Given the description of an element on the screen output the (x, y) to click on. 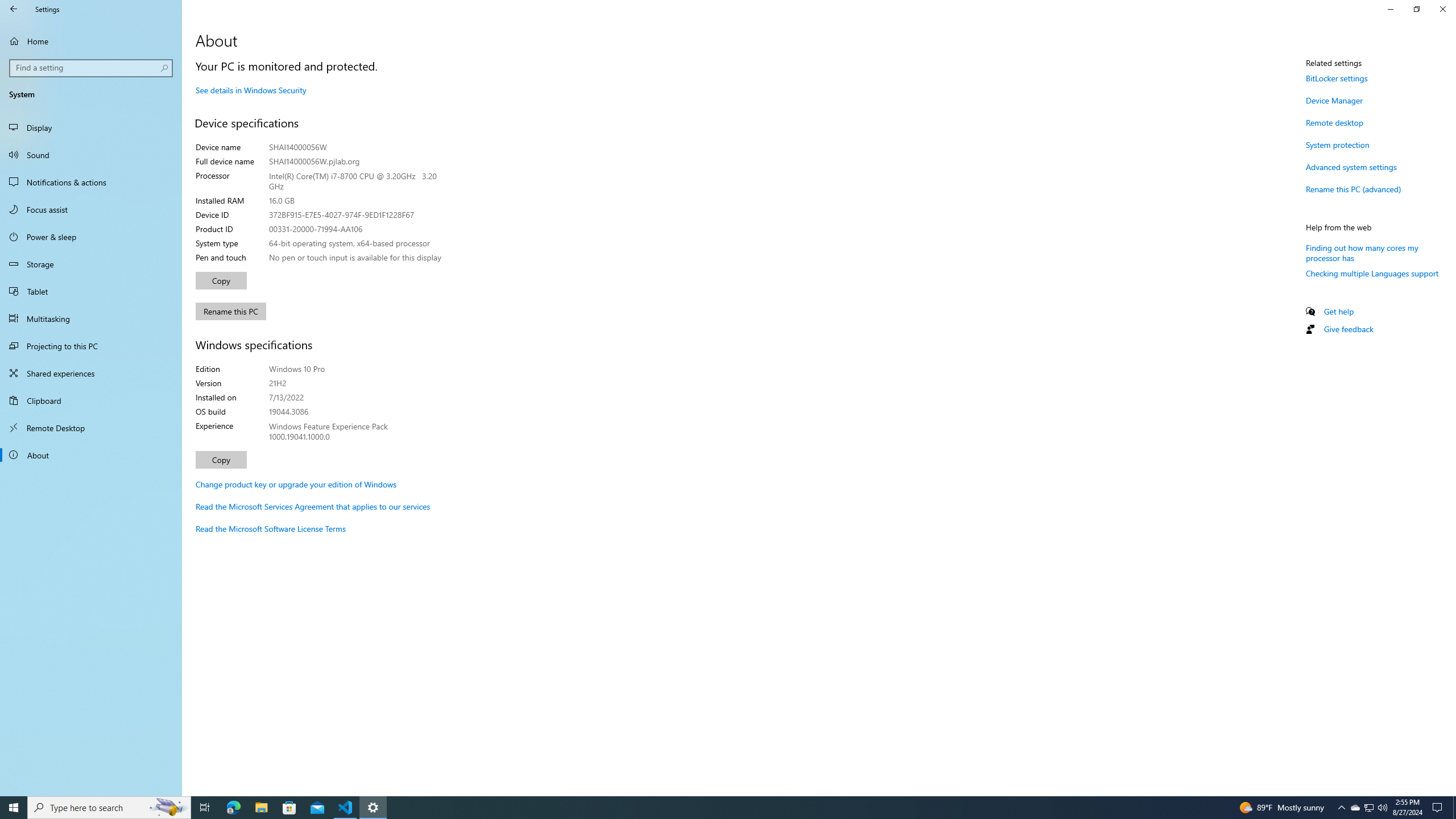
Tablet (91, 290)
Multitasking (91, 318)
Focus assist (91, 208)
Give feedback (1348, 328)
Checking multiple Languages support (1372, 272)
Clipboard (91, 400)
Restore Settings (1416, 9)
Copy (221, 459)
Read the Microsoft Software License Terms (270, 528)
Remote desktop (1335, 122)
